Given the description of an element on the screen output the (x, y) to click on. 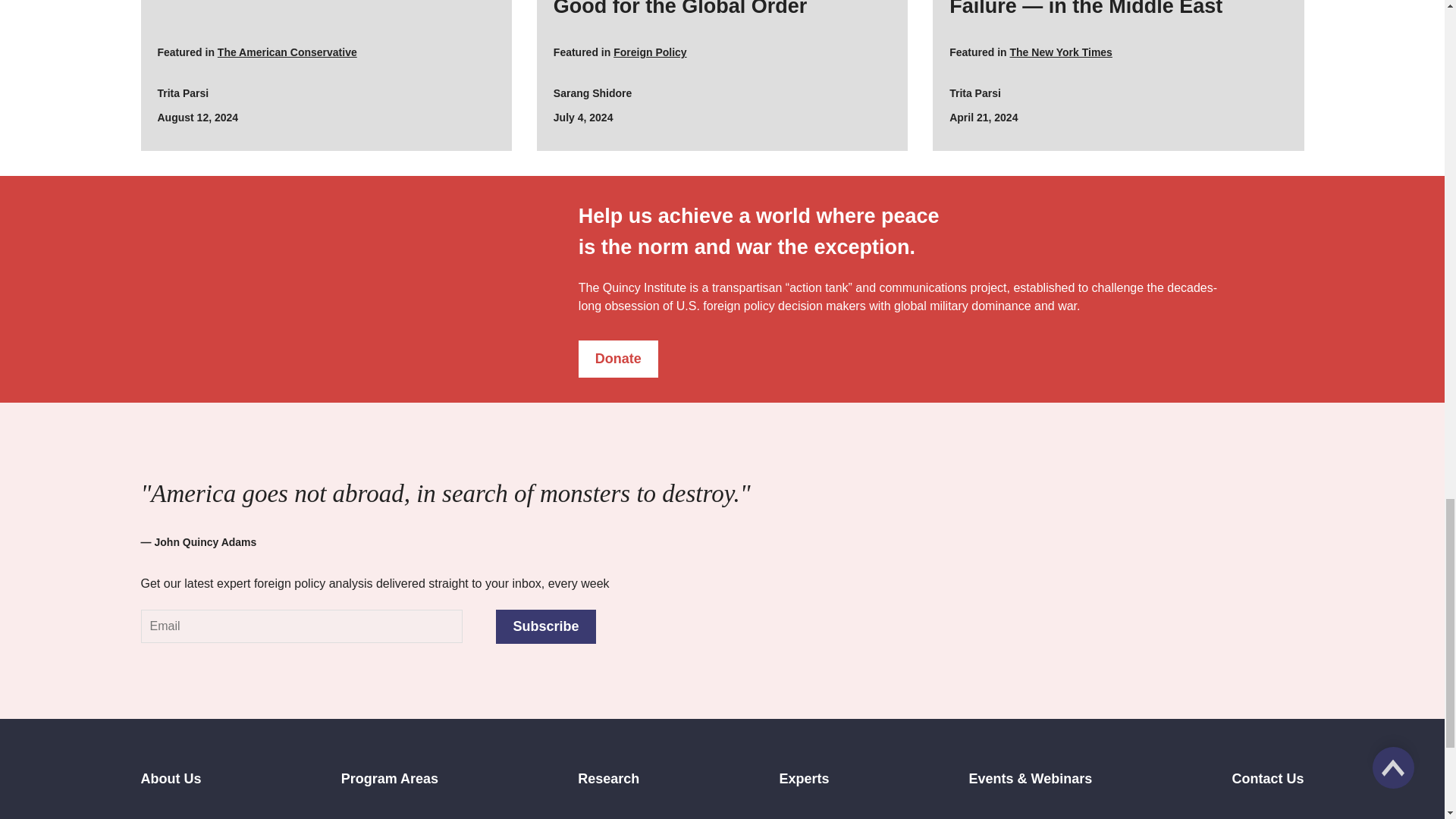
The American Conservative (286, 51)
Posts by Sarang Shidore (592, 92)
Southeast Asia in BRICS Is Good for the Global Order (722, 9)
Trita Parsi (183, 92)
Posts by Trita Parsi (975, 92)
Posts by Trita Parsi (183, 92)
